Given the description of an element on the screen output the (x, y) to click on. 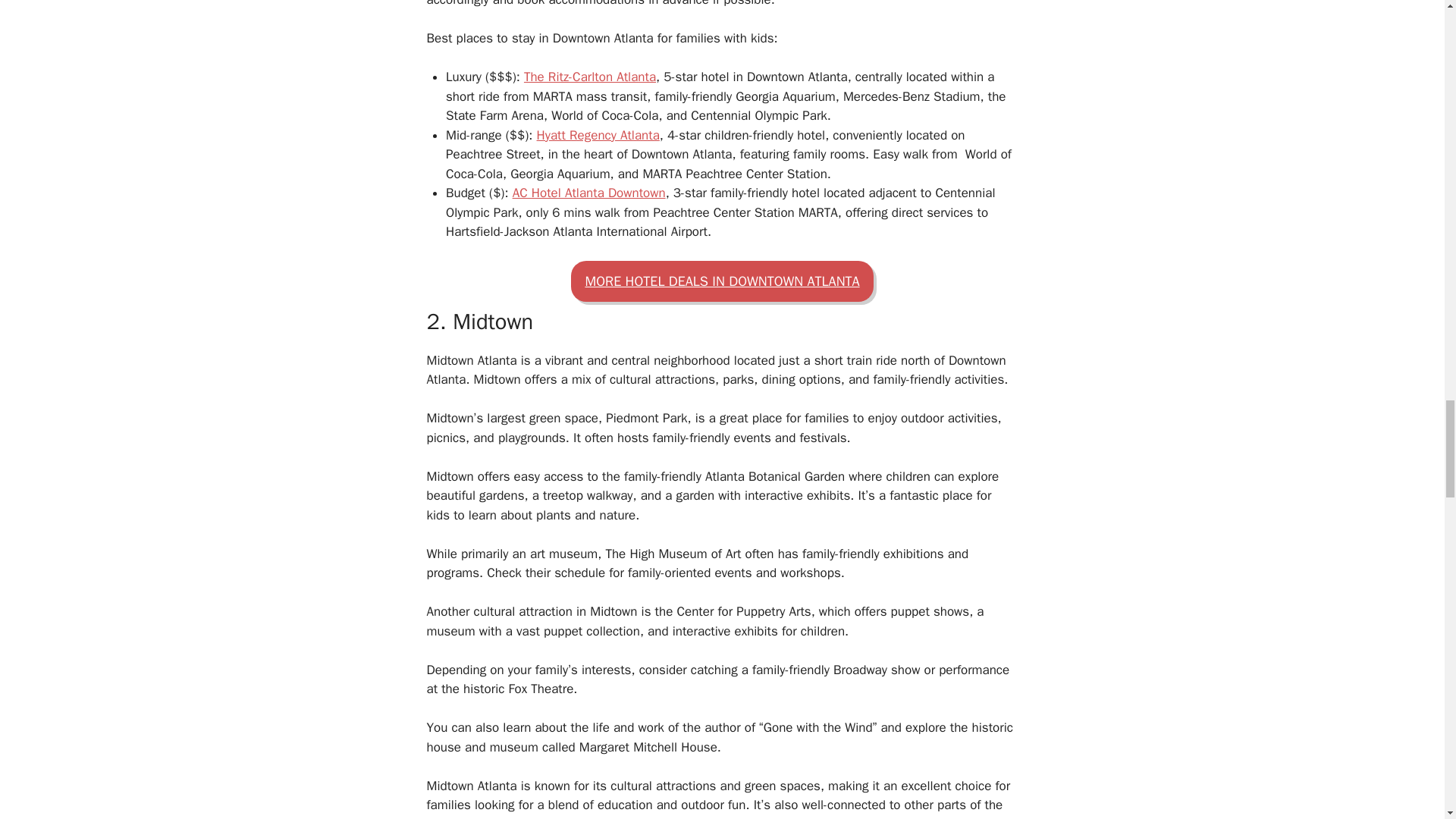
MORE HOTEL DEALS IN DOWNTOWN ATLANTA (721, 281)
Hyatt Regency Atlanta (598, 135)
AC Hotel Atlanta Downtown (588, 192)
The Ritz-Carlton Atlanta (590, 76)
